Given the description of an element on the screen output the (x, y) to click on. 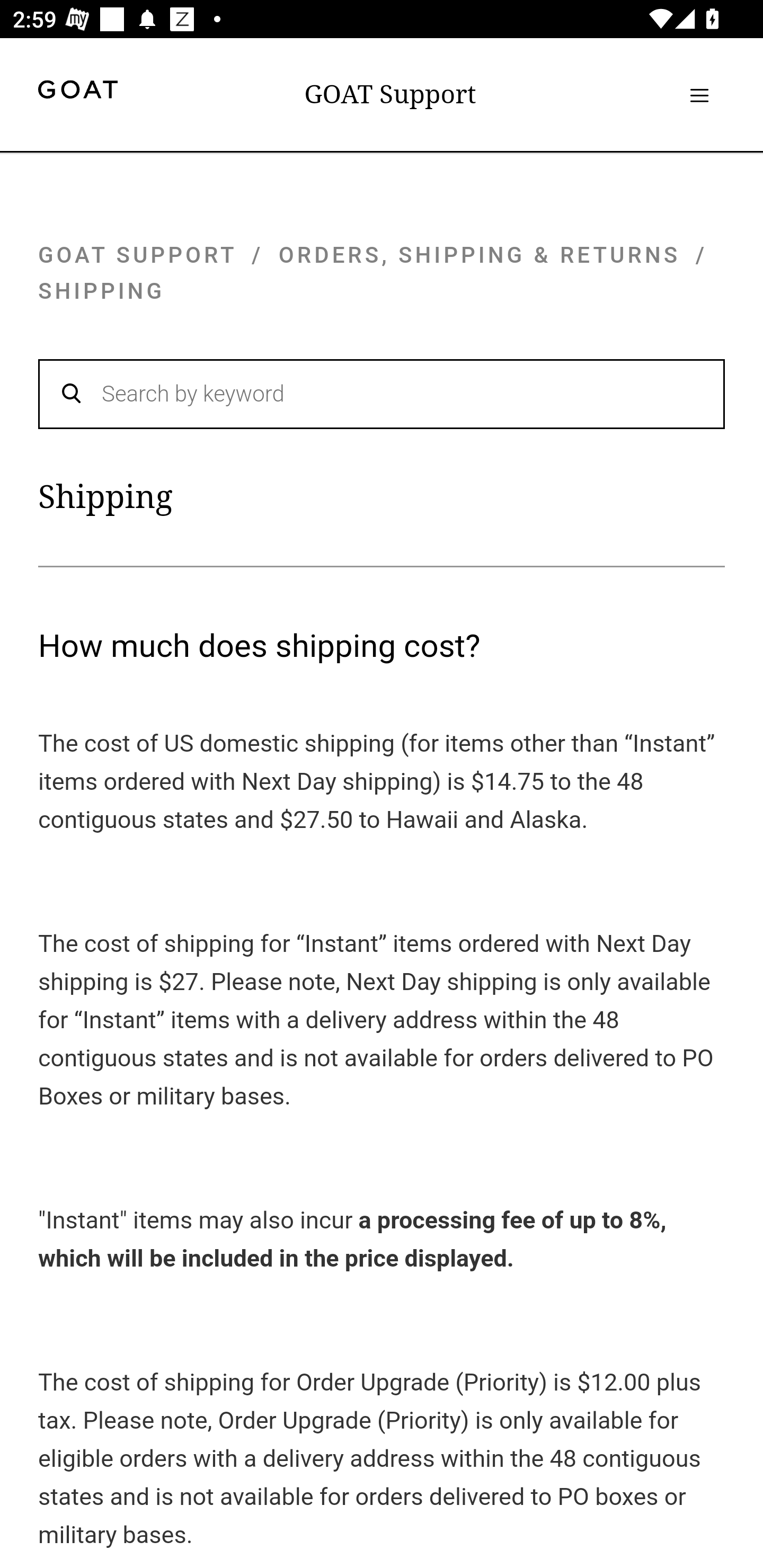
goat header logo (77, 92)
Toggle navigation menu (698, 94)
GOAT Support (389, 94)
GOAT SUPPORT (137, 254)
ORDERS, SHIPPING & RETURNS (480, 254)
SHIPPING (101, 291)
